Given the description of an element on the screen output the (x, y) to click on. 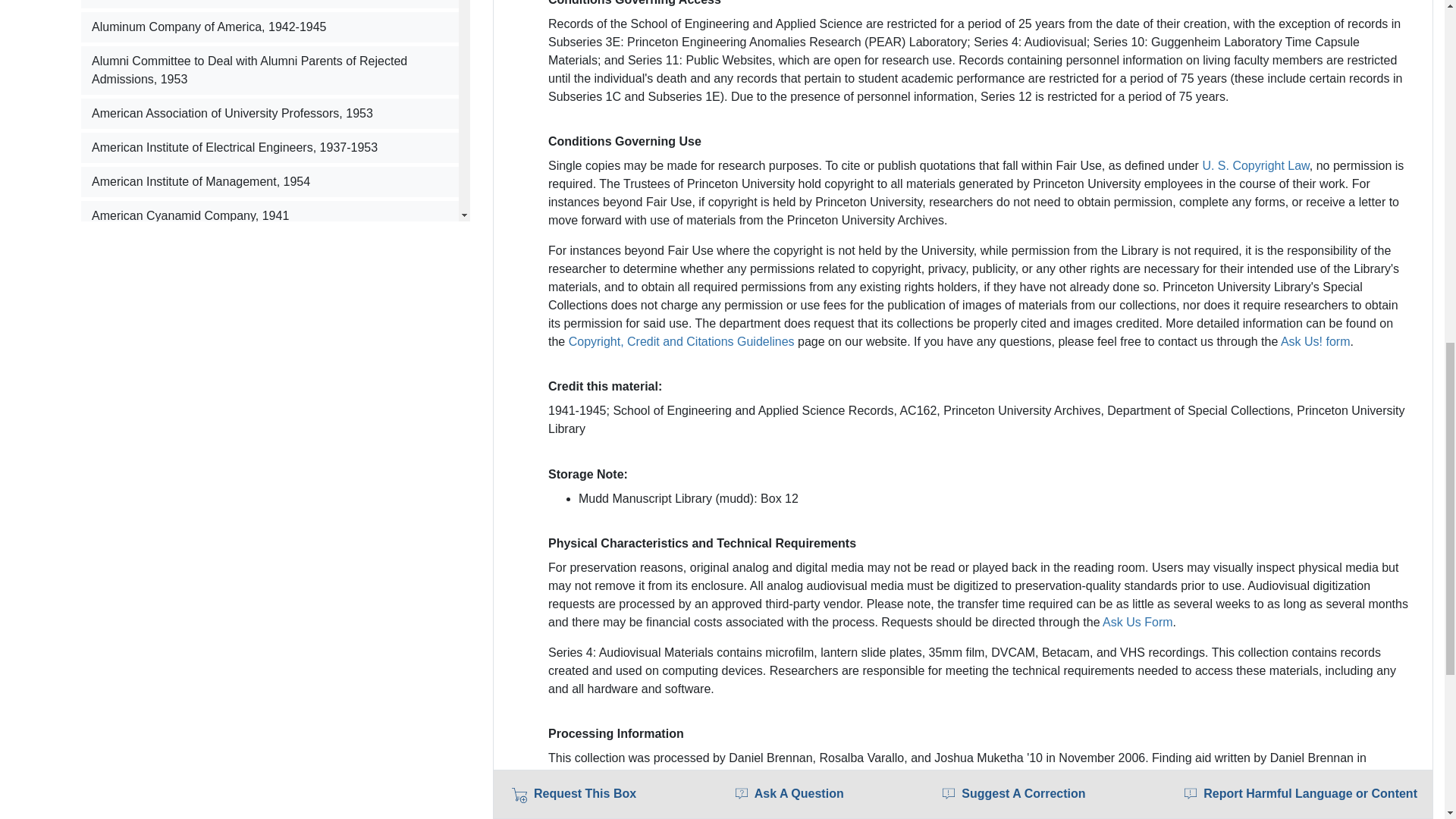
American Institute of Management, 1954 (269, 182)
Aluminum Company of America, 1942-1945 (269, 27)
American Association of University Professors, 1953 (269, 113)
American Management Association, 1954-1956 (269, 284)
American Gas Accumulator Company, 1943 (269, 250)
American Cyanamid Company, 1941 (269, 215)
American Institute of Electrical Engineers, 1937-1953 (269, 147)
Alexander, Henry R, 1951 February 20 (269, 4)
